Given the description of an element on the screen output the (x, y) to click on. 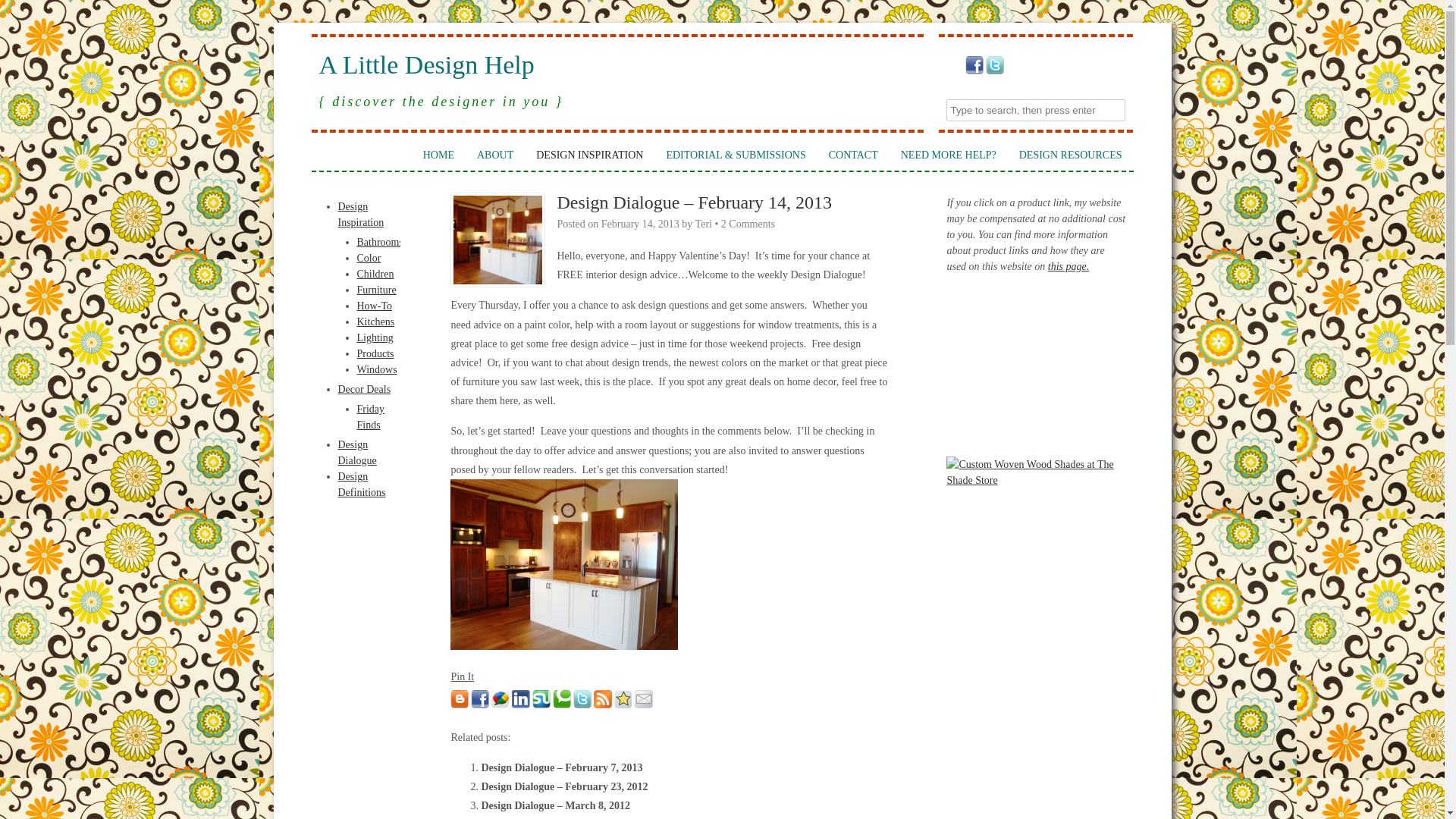
Windows (376, 369)
Children (374, 274)
DESIGN INSPIRATION (588, 155)
HOME (438, 155)
View all posts by Teri (703, 224)
Search (23, 10)
Friday Finds (370, 416)
Kitchens (375, 321)
2 Comments (747, 224)
Design Dialogue (357, 452)
